Given the description of an element on the screen output the (x, y) to click on. 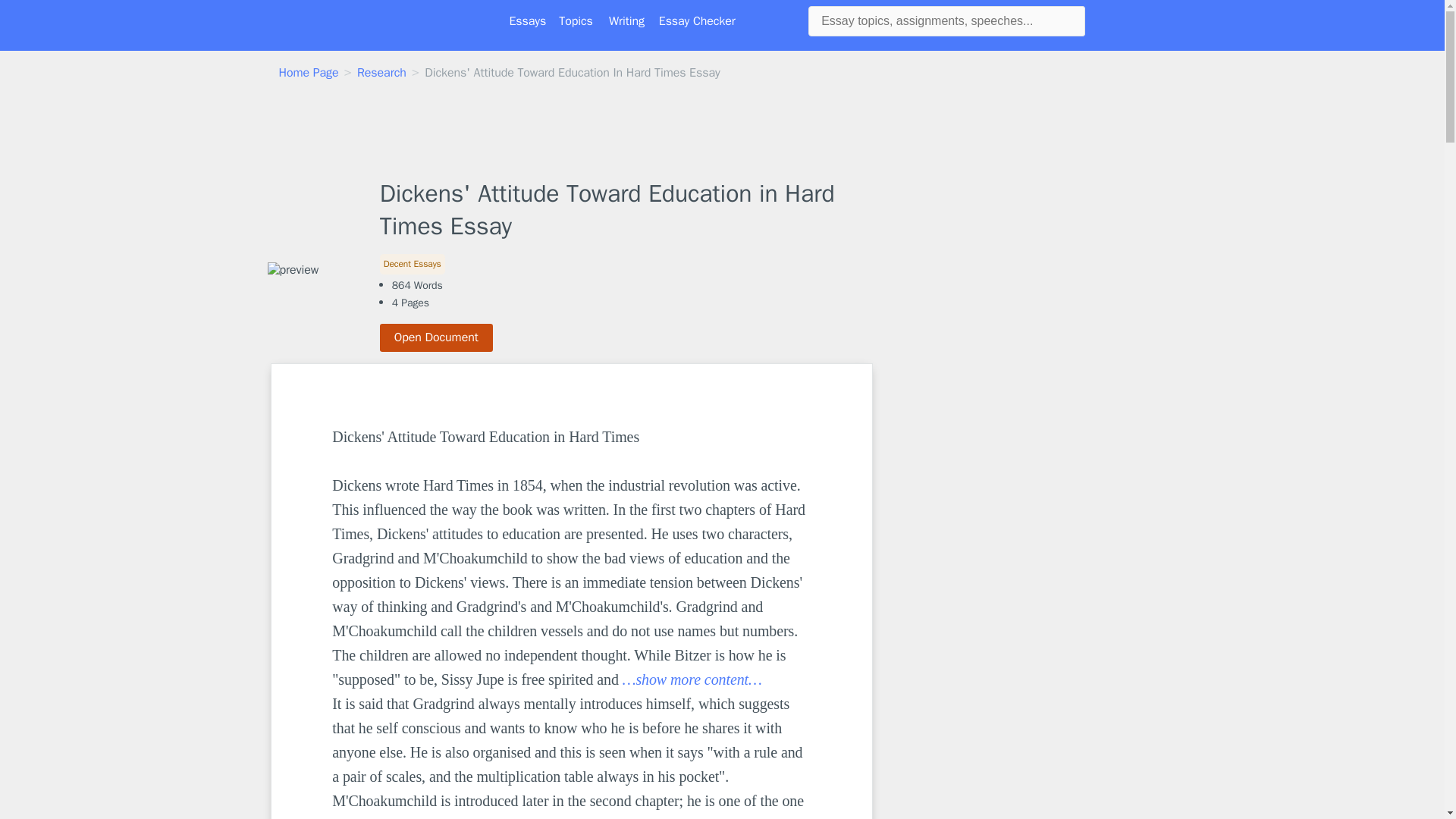
Topics (575, 20)
Open Document (436, 337)
Research (381, 72)
Writing (626, 20)
Essay Checker (697, 20)
Home Page (309, 72)
Essays (528, 20)
